Given the description of an element on the screen output the (x, y) to click on. 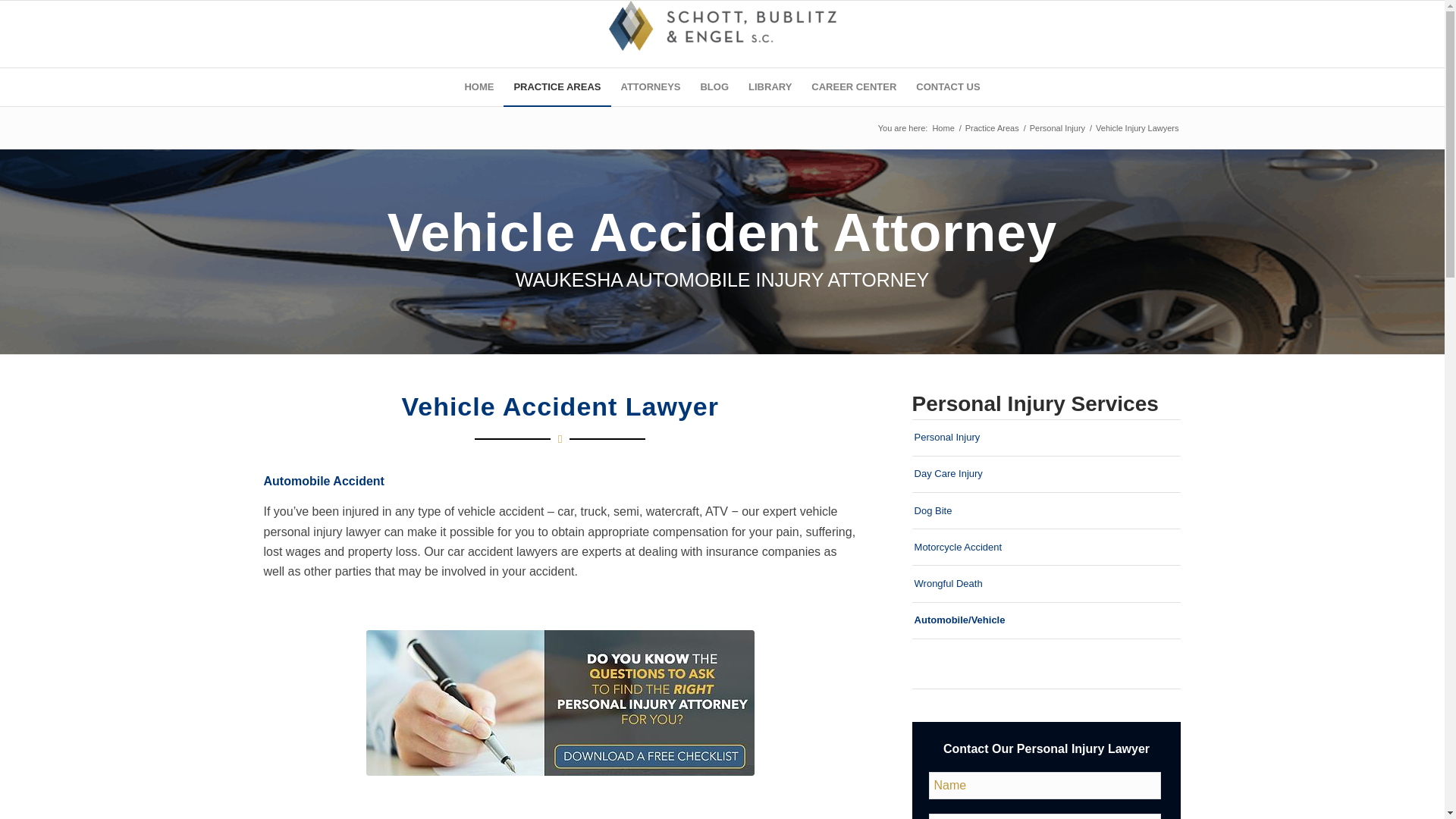
ATTORNEYS (650, 86)
Practice Areas (992, 128)
Personal Injury (1057, 128)
HOME (478, 86)
Checklist-Personal-Injury-Web1-CTA6949 (560, 702)
PRACTICE AREAS (556, 86)
